Given the description of an element on the screen output the (x, y) to click on. 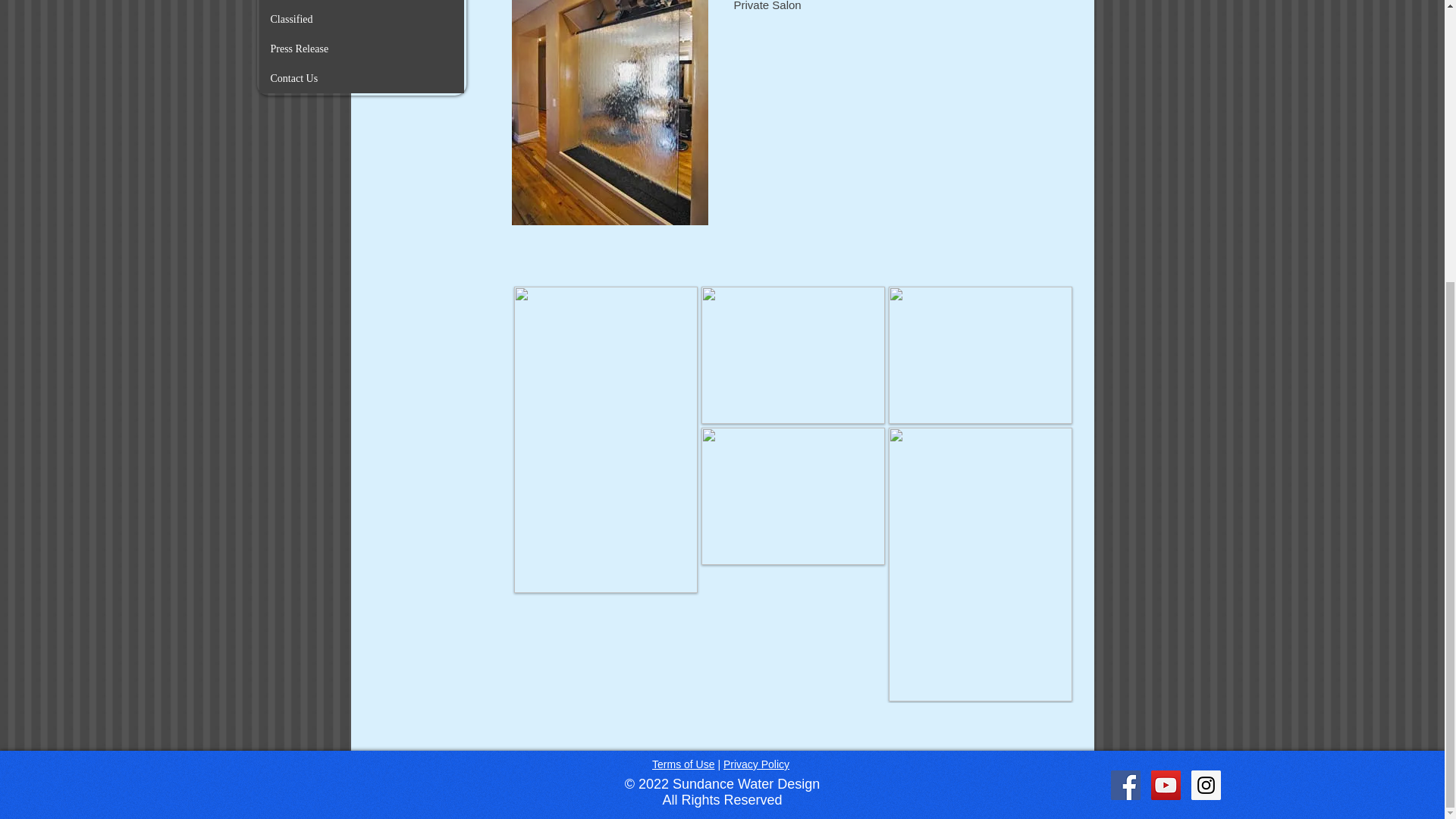
About Us (361, 2)
Privacy Policy (756, 764)
Classified (361, 19)
Contact Us (361, 78)
Press Release (361, 48)
Terms of Use (683, 764)
